Given the description of an element on the screen output the (x, y) to click on. 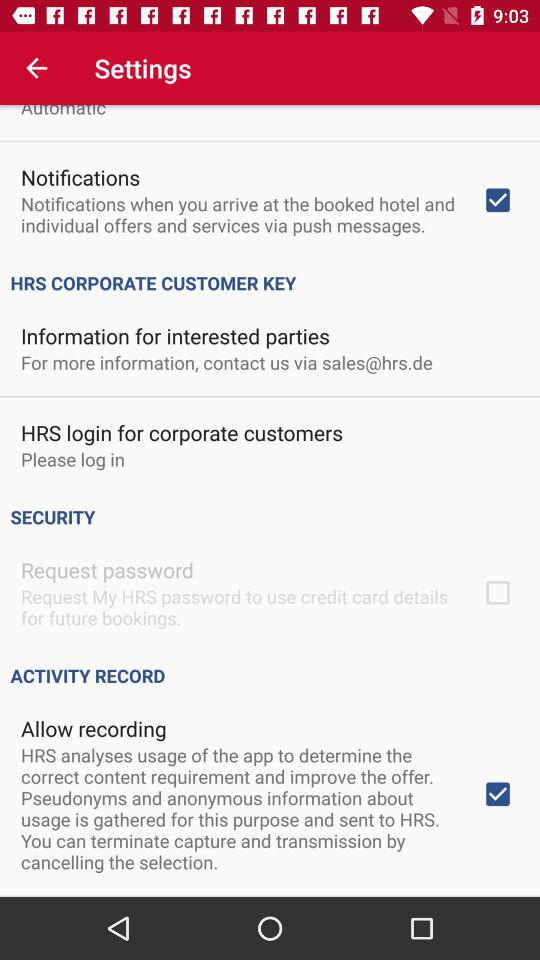
open icon to the left of the settings (36, 68)
